Given the description of an element on the screen output the (x, y) to click on. 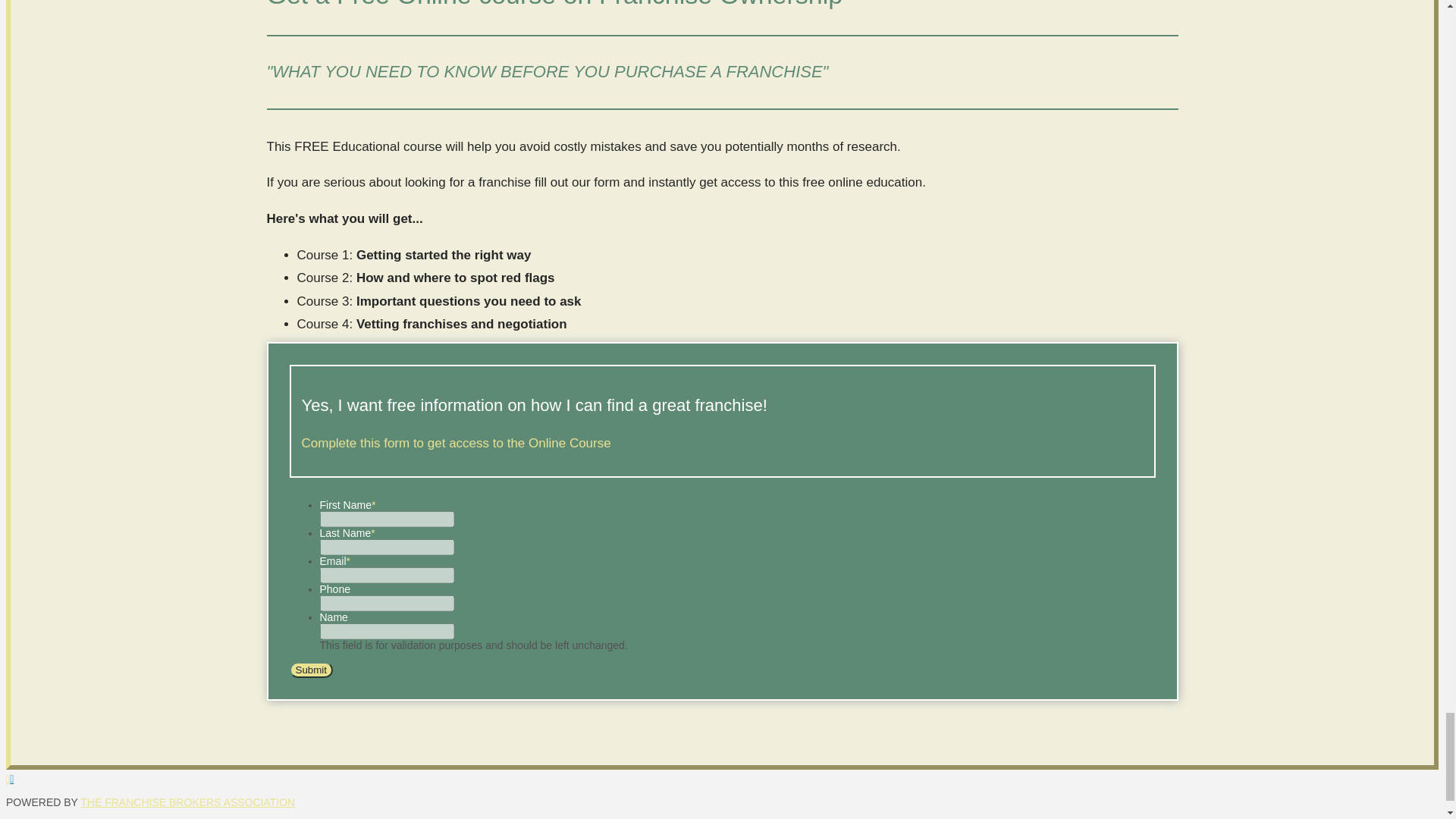
THE FRANCHISE BROKERS ASSOCIATION (187, 802)
Submit (311, 669)
LinkedIn (17, 778)
Submit (311, 669)
THE FRANCHISE BROKERS ASSOCIATION (187, 802)
